Given the description of an element on the screen output the (x, y) to click on. 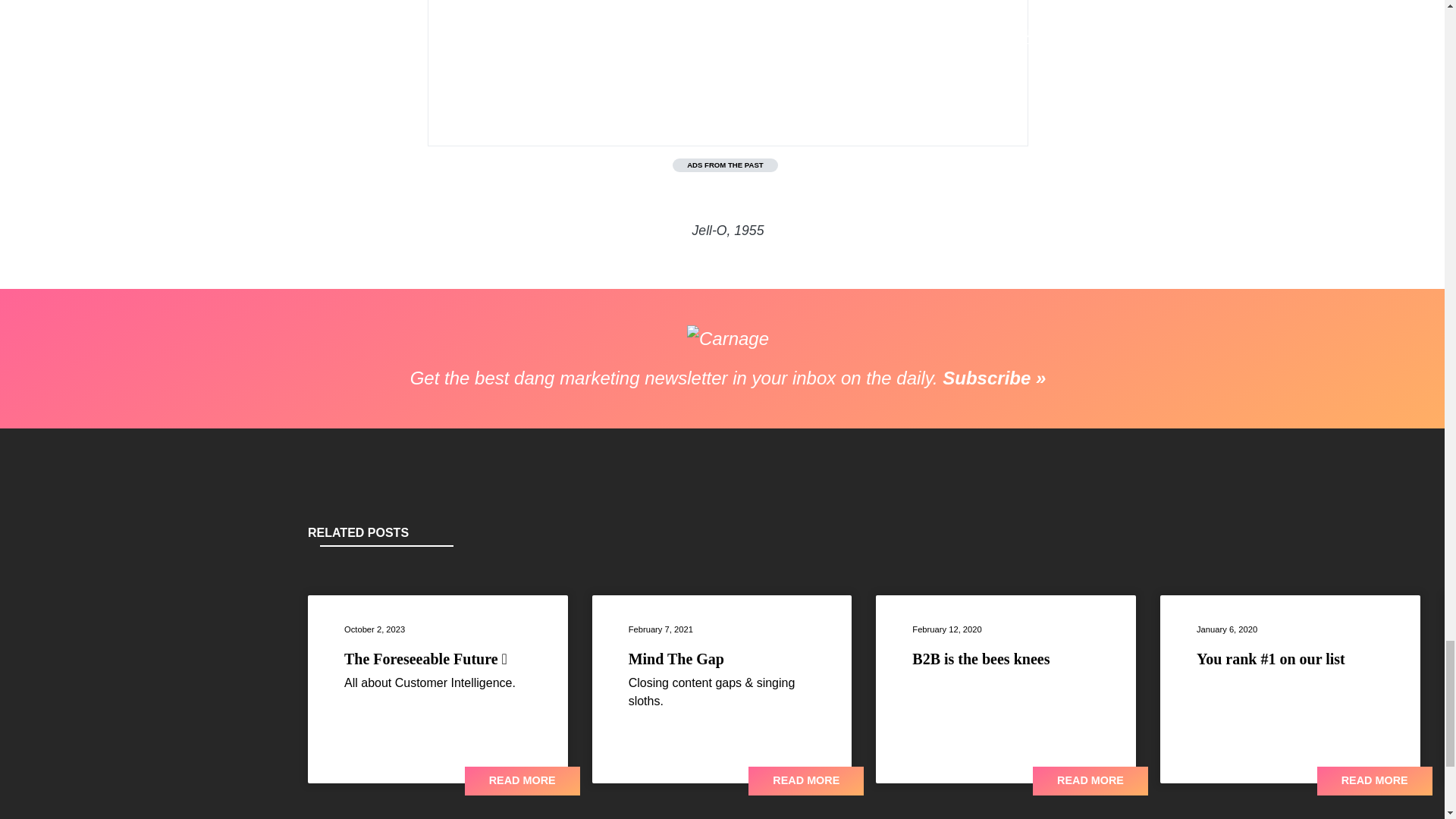
READ MORE (1090, 780)
READ MORE (1374, 780)
B2B is the bees knees (980, 658)
READ MORE (805, 780)
Mind The Gap (675, 658)
ADS FROM THE PAST (724, 164)
READ MORE (521, 780)
